Given the description of an element on the screen output the (x, y) to click on. 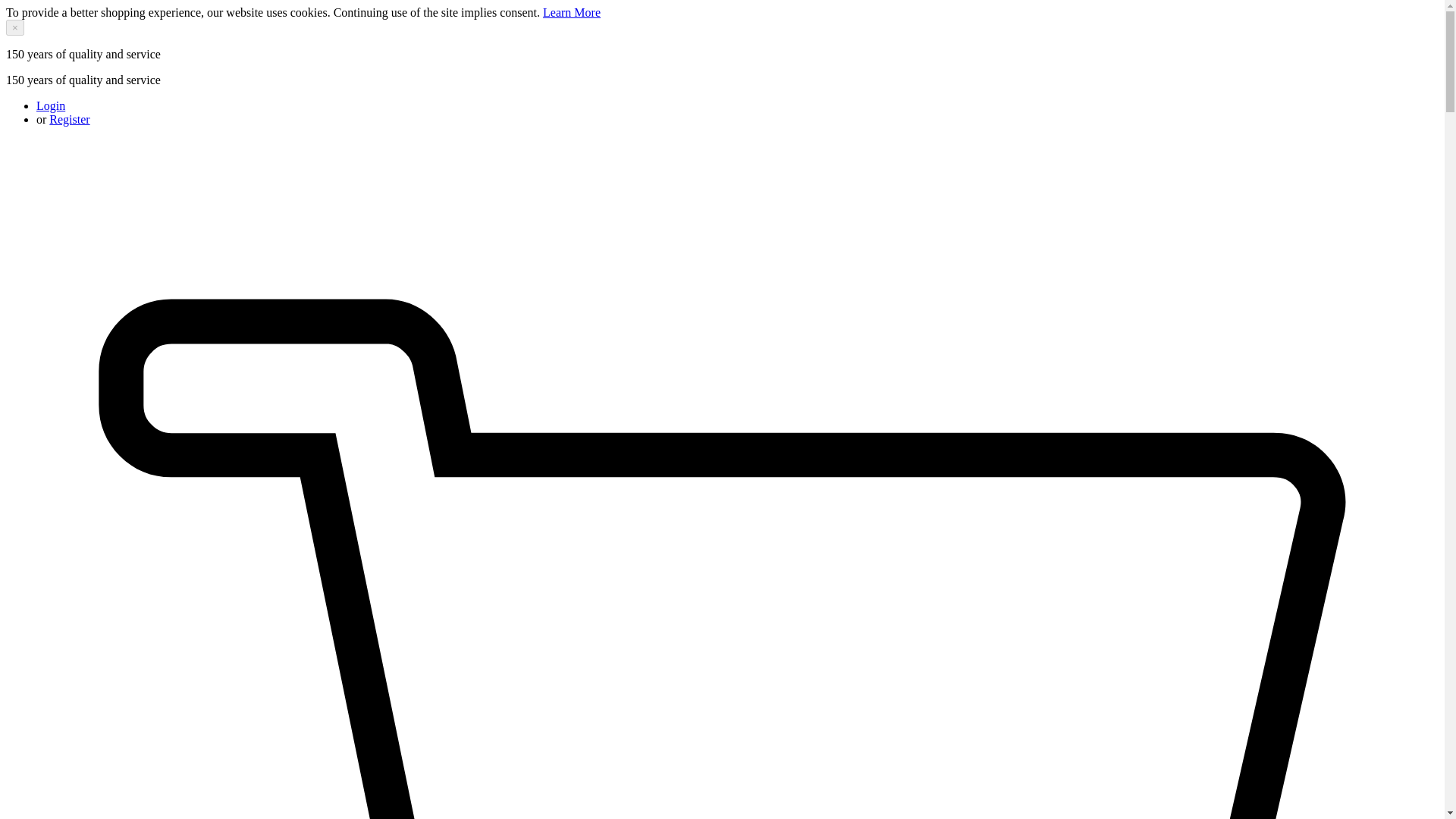
Learn More (571, 11)
Register (68, 119)
Login (50, 105)
